Given the description of an element on the screen output the (x, y) to click on. 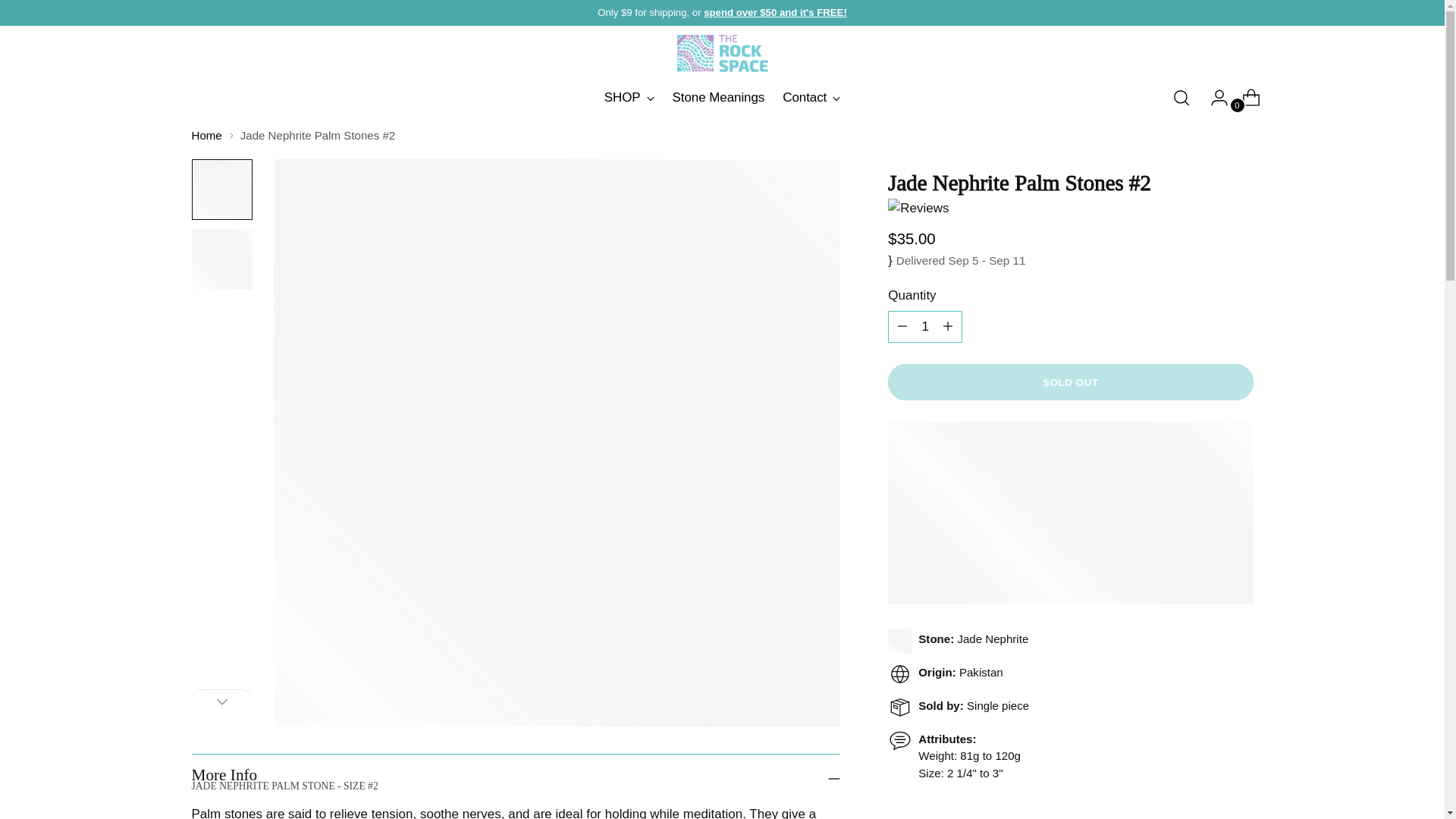
Down (220, 701)
SHOP (628, 97)
Shipping Policy (722, 97)
1 (775, 12)
